Given the description of an element on the screen output the (x, y) to click on. 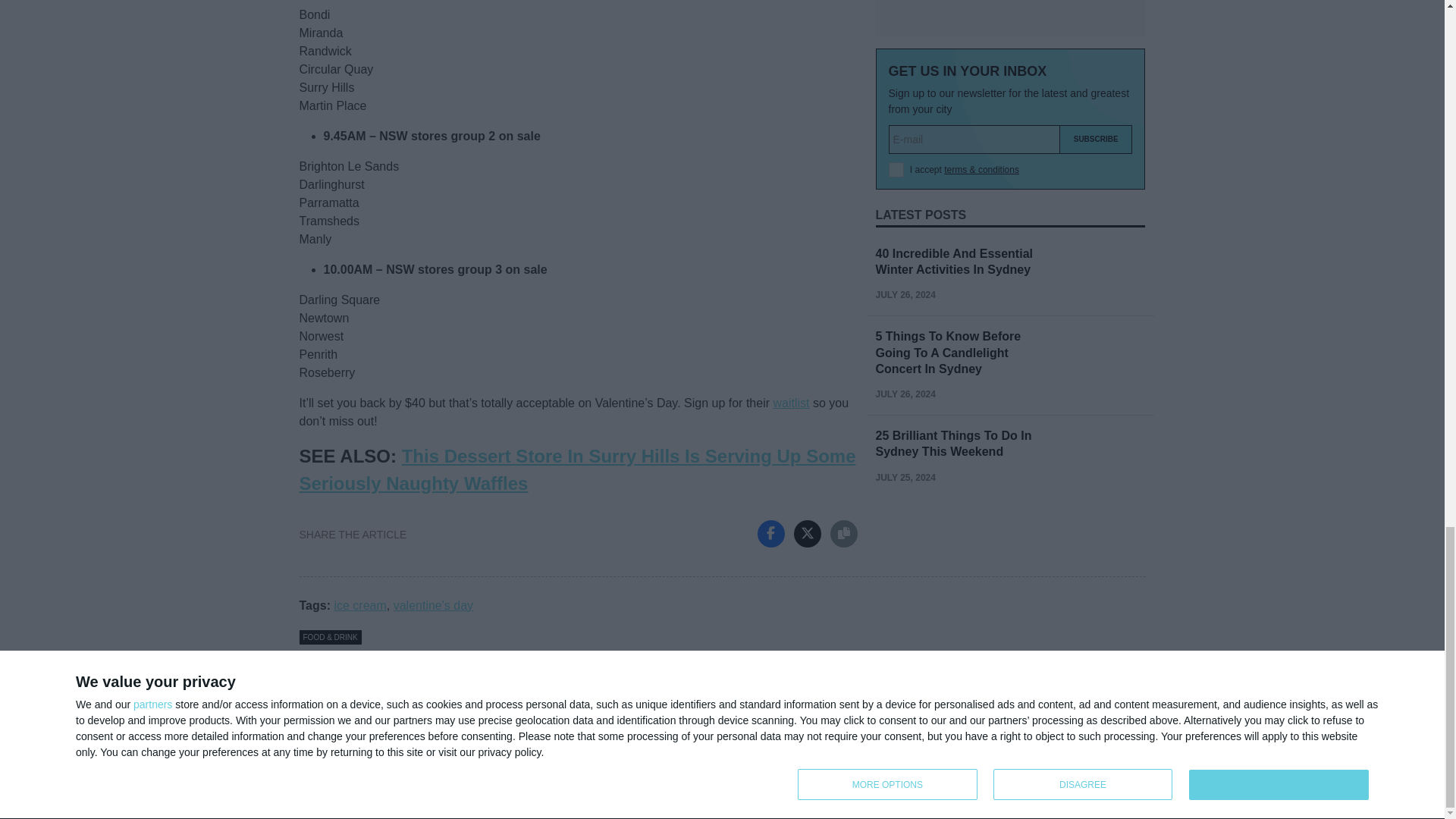
JULY 25, 2024 (904, 3)
ice cream (359, 604)
waitlist (791, 402)
